Given the description of an element on the screen output the (x, y) to click on. 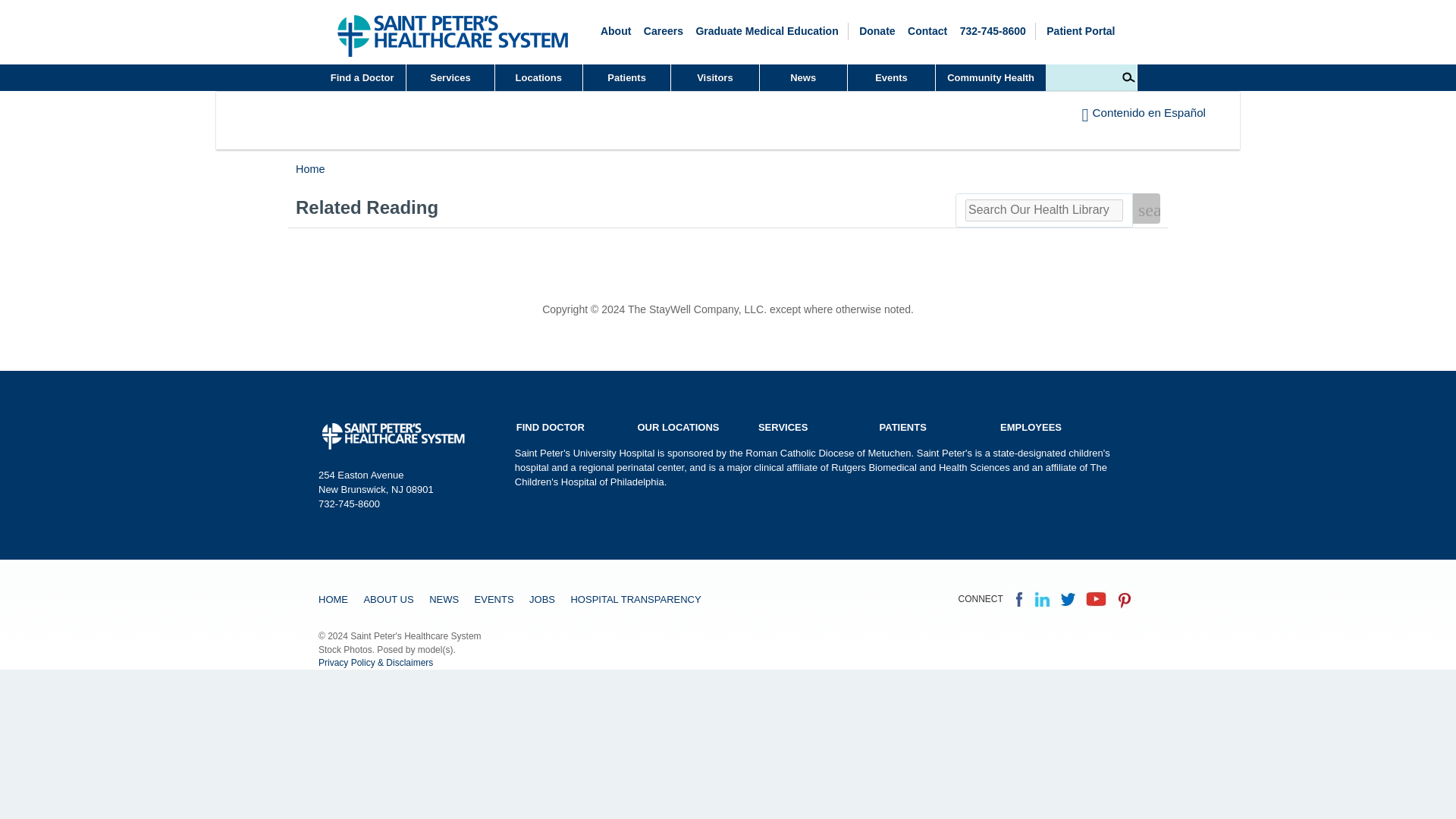
Donate (877, 30)
Patients (626, 77)
Submit Health Library Search (1146, 208)
Services (450, 77)
About (614, 30)
Locations (538, 77)
Find a Doctor (362, 77)
Patient Portal (1080, 30)
Graduate Medical Education (766, 30)
Contact (927, 30)
Careers (662, 30)
732-745-8600 (992, 30)
